Given the description of an element on the screen output the (x, y) to click on. 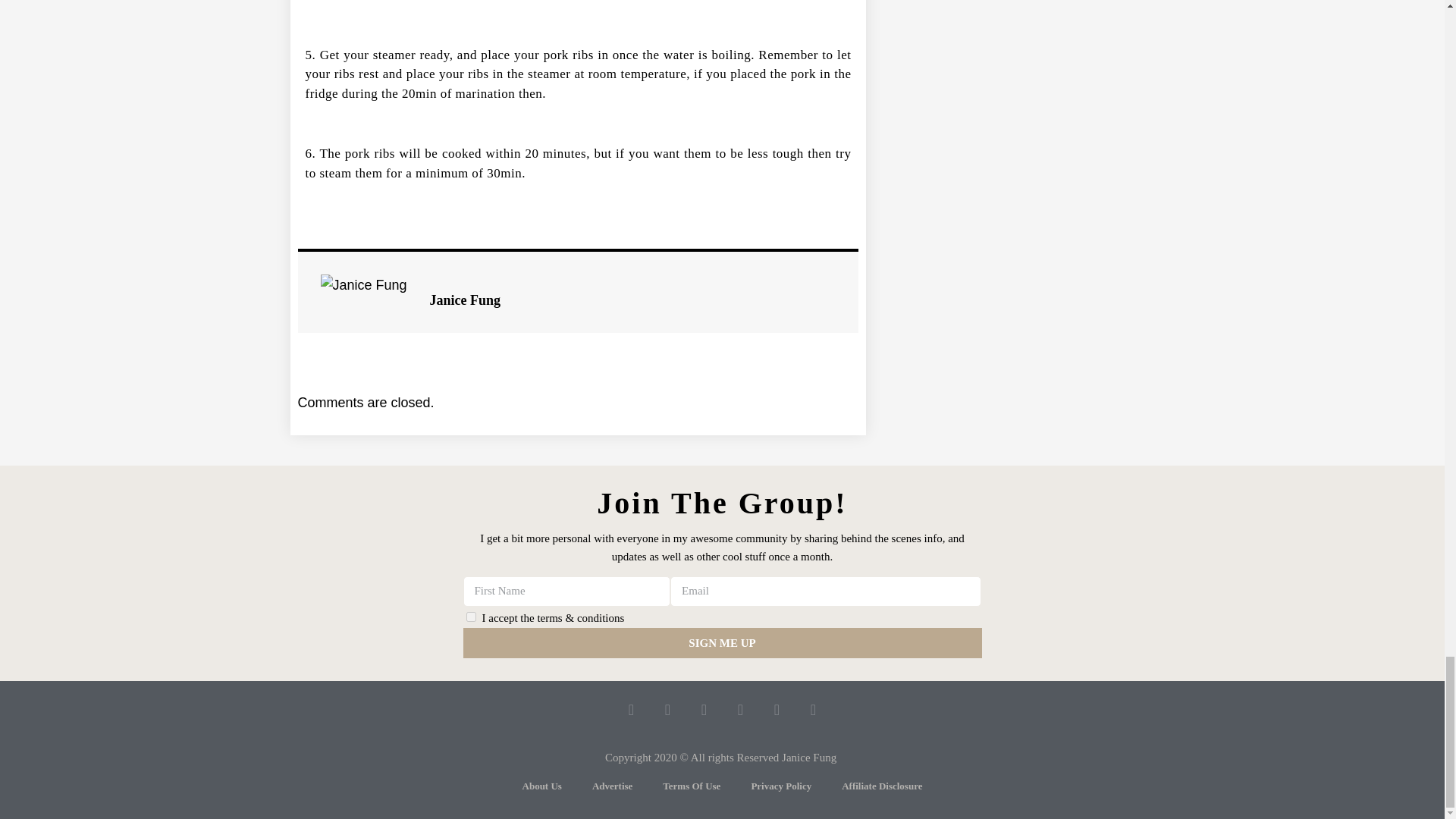
on (470, 616)
